Given the description of an element on the screen output the (x, y) to click on. 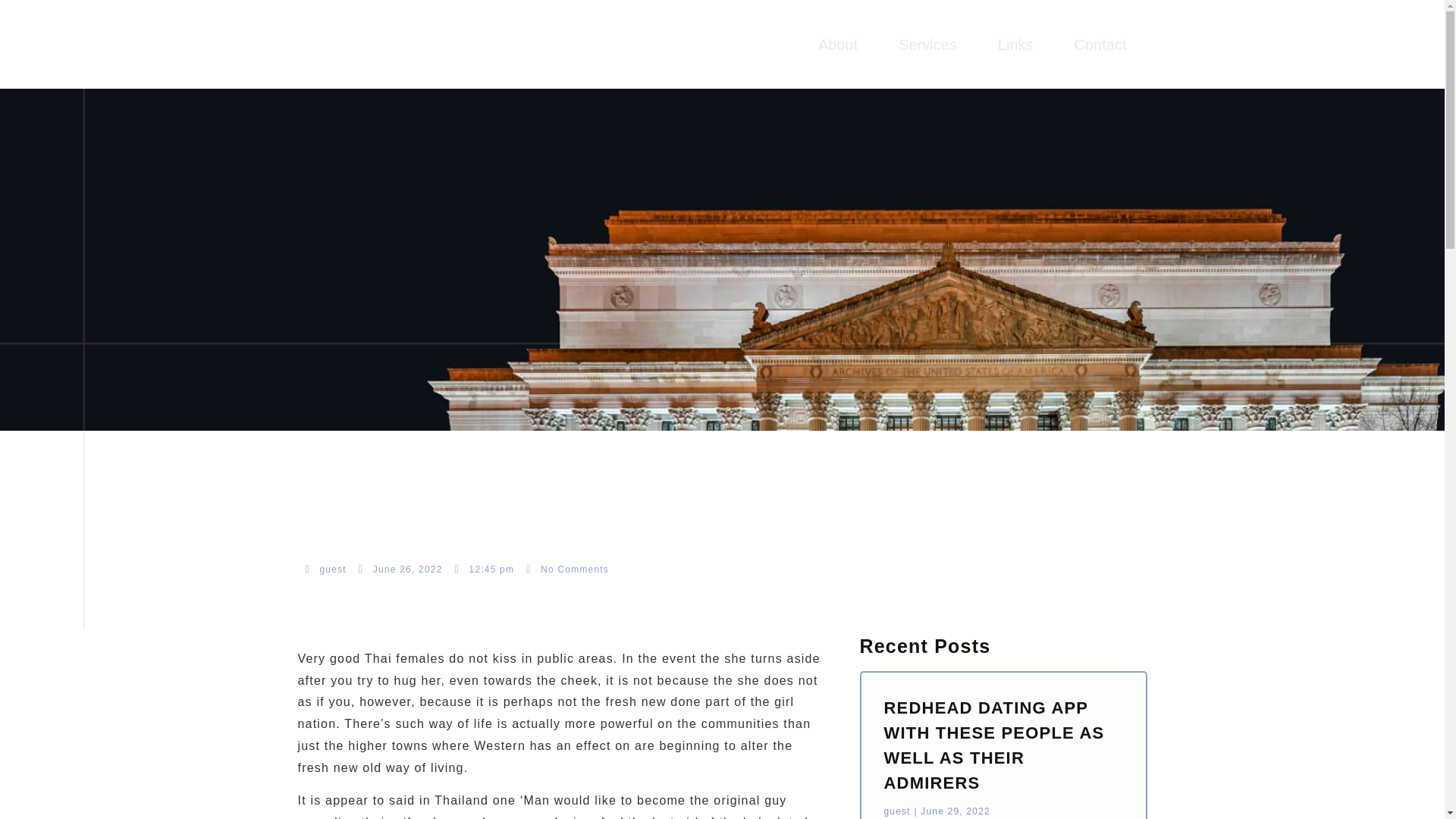
Contact (1100, 44)
June 26, 2022 (400, 569)
Links (1015, 44)
No Comments (566, 569)
guest (325, 569)
About (837, 44)
Services (926, 44)
